Given the description of an element on the screen output the (x, y) to click on. 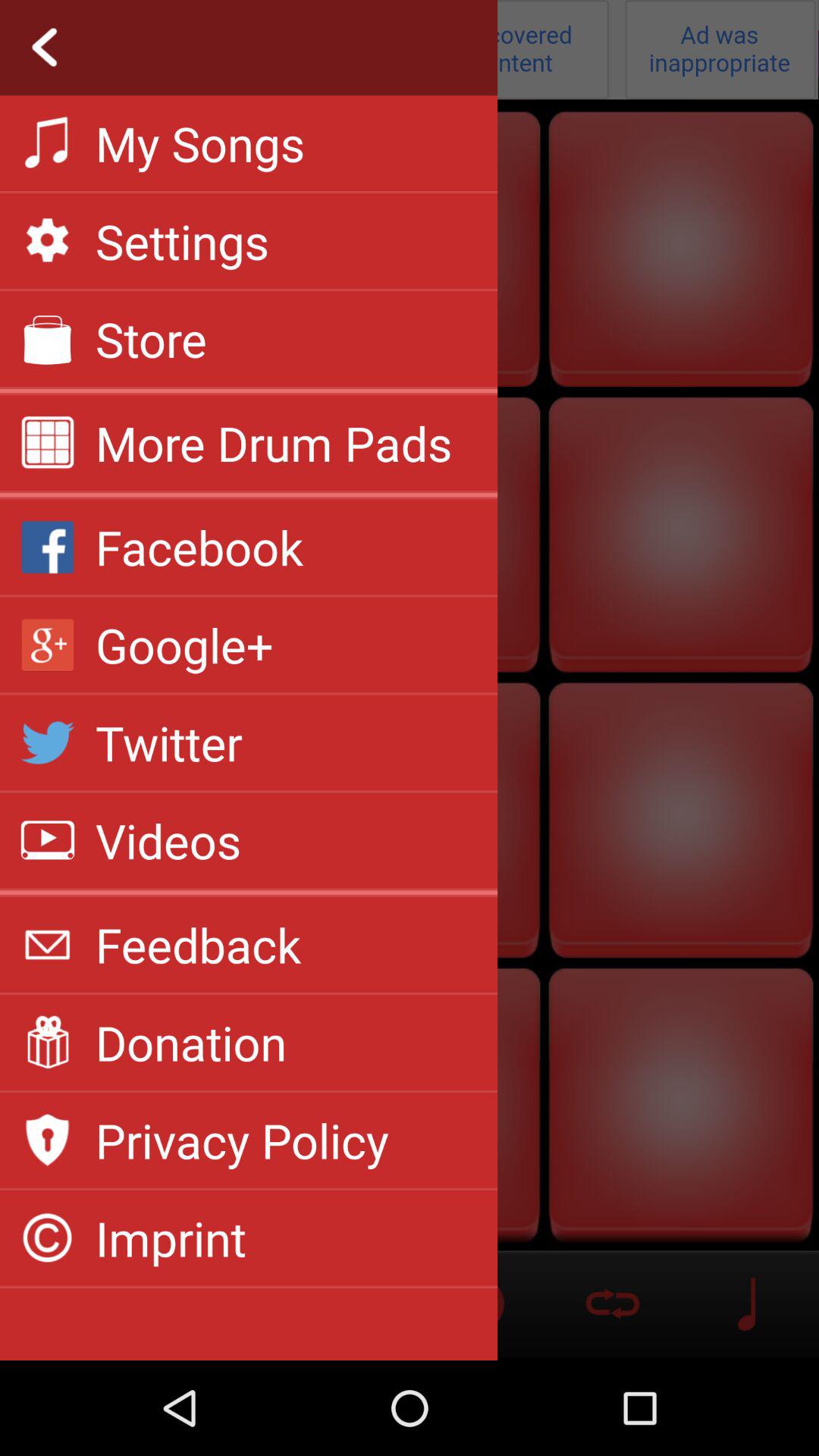
click the item above the twitter (184, 644)
